Given the description of an element on the screen output the (x, y) to click on. 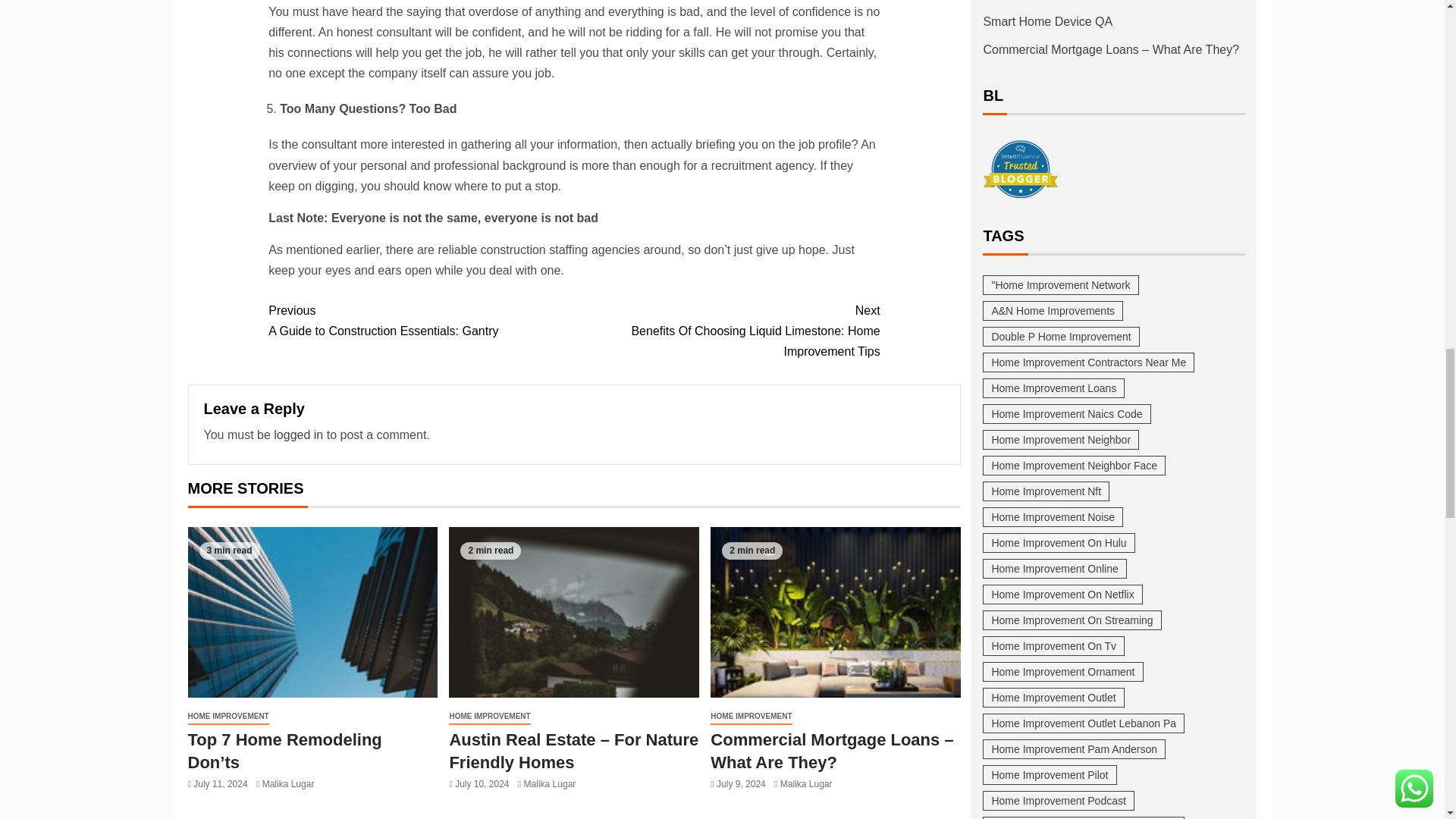
logged in (298, 434)
HOME IMPROVEMENT (420, 320)
